Given the description of an element on the screen output the (x, y) to click on. 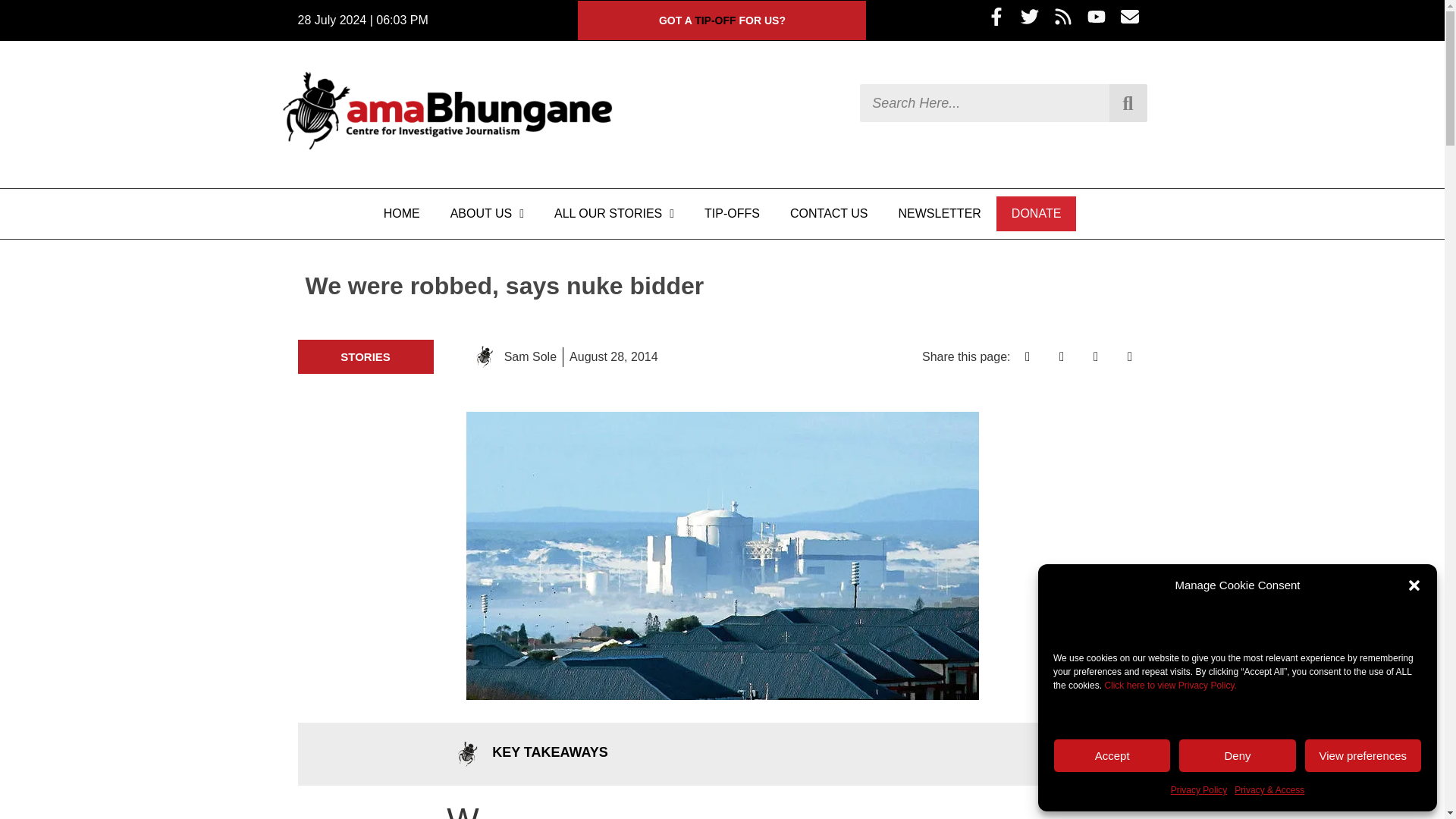
Click here to view Privacy Policy. (1169, 685)
GOT A TIP-OFF FOR US? (722, 20)
Deny (1236, 755)
View preferences (1363, 755)
Privacy Policy (1198, 790)
Accept (1111, 755)
